Given the description of an element on the screen output the (x, y) to click on. 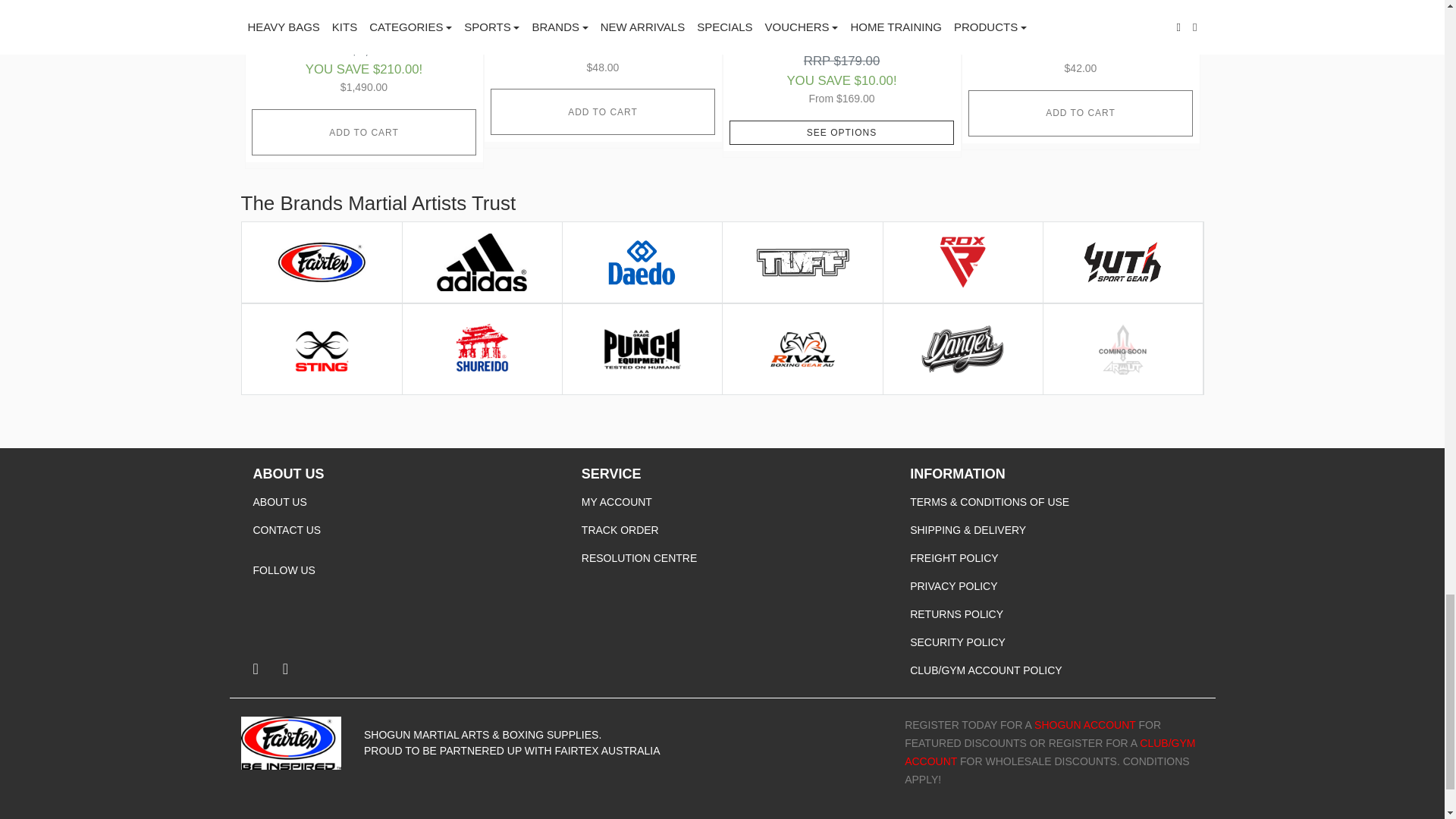
Add CSG Focus Mitts to Cart (602, 111)
